Given the description of an element on the screen output the (x, y) to click on. 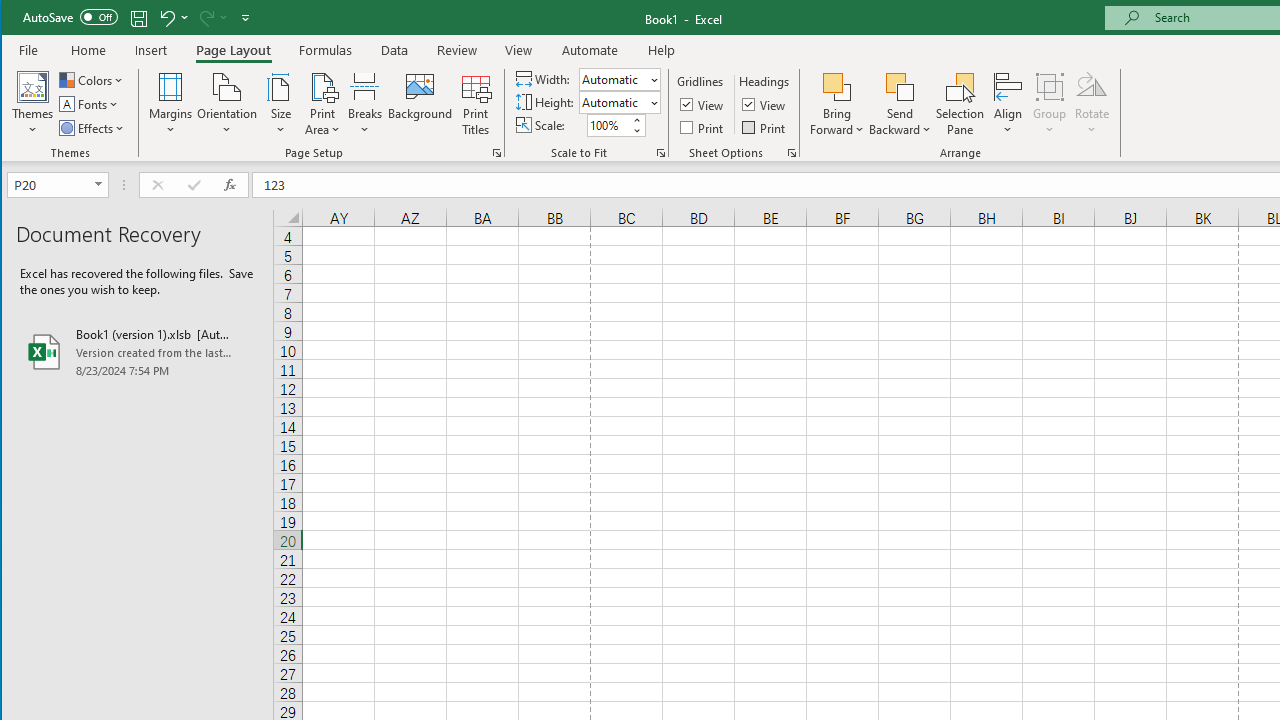
Align (1007, 104)
Selection Pane... (960, 104)
More (636, 120)
Bring Forward (836, 86)
Send Backward (900, 86)
